Given the description of an element on the screen output the (x, y) to click on. 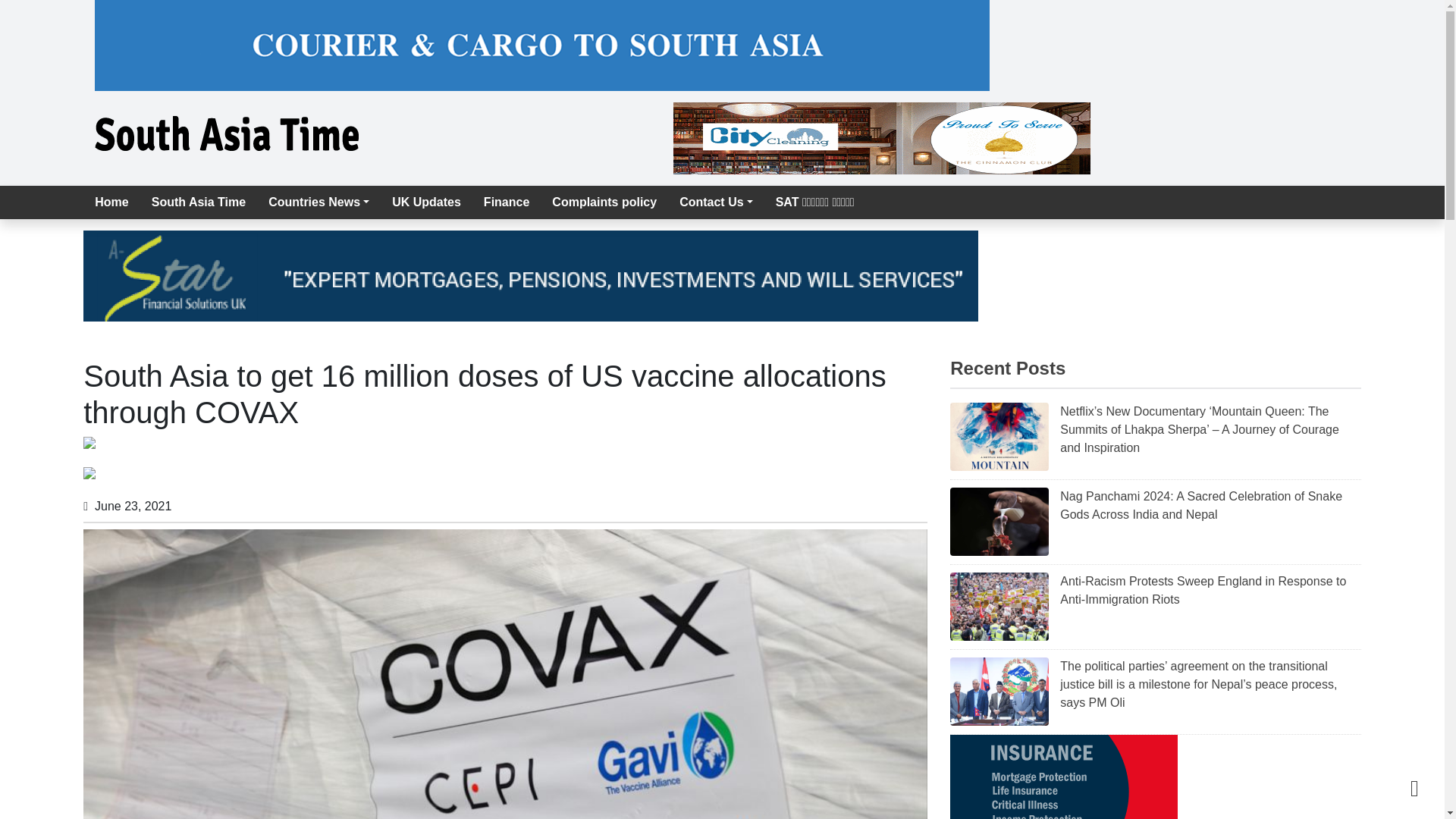
South Asia Time (198, 202)
Home (110, 202)
Home (110, 202)
Countries News (318, 202)
Complaints policy (604, 202)
South Asia Time (198, 202)
UK Updates (425, 202)
Finance (505, 202)
Recent Posts (1007, 367)
Countries News (318, 202)
